Given the description of an element on the screen output the (x, y) to click on. 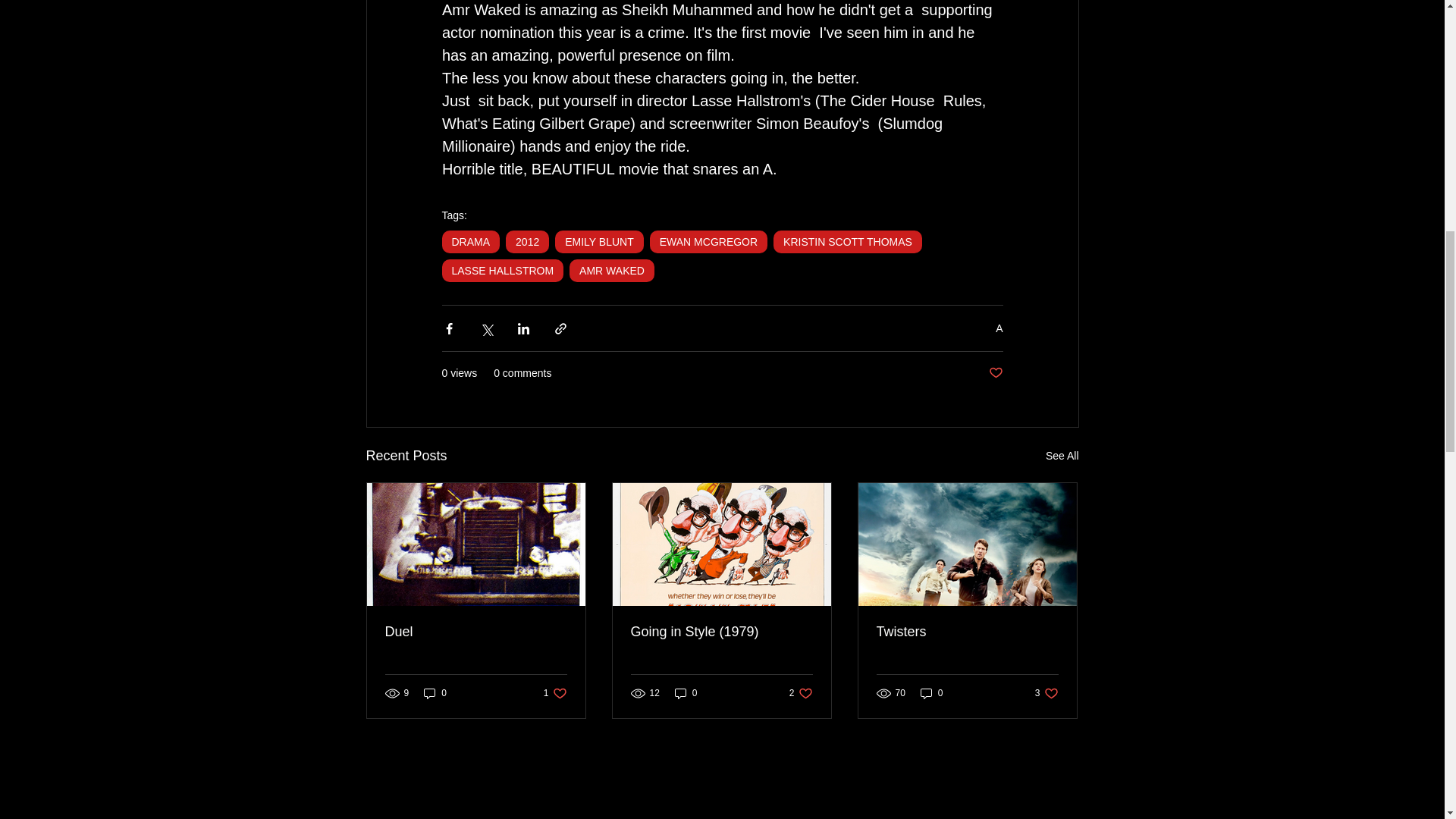
EWAN MCGREGOR (708, 241)
LASSE HALLSTROM (502, 270)
AMR WAKED (611, 270)
DRAMA (470, 241)
2012 (526, 241)
KRISTIN SCOTT THOMAS (847, 241)
EMILY BLUNT (598, 241)
